Given the description of an element on the screen output the (x, y) to click on. 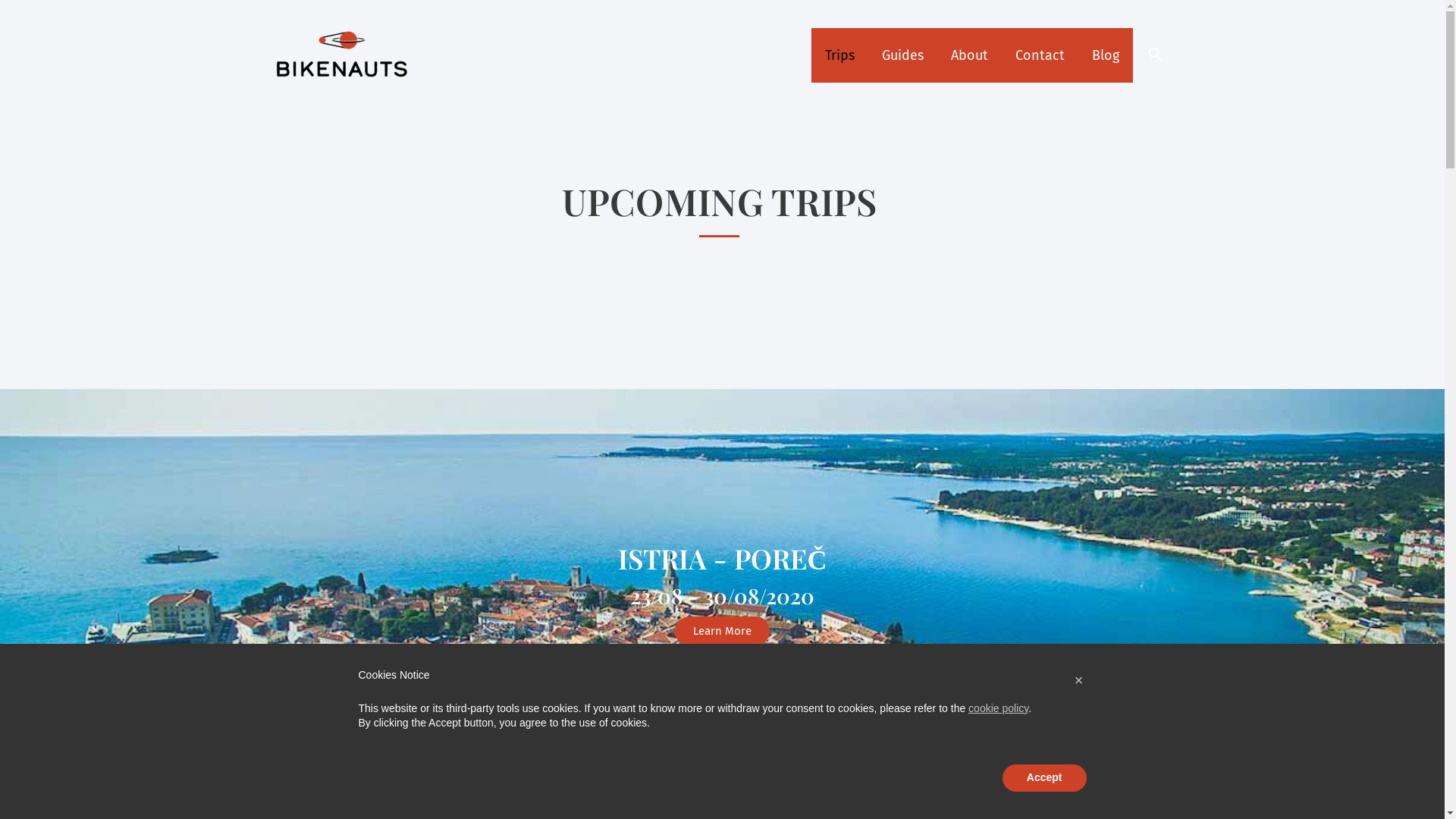
Accept Element type: text (1044, 777)
Guides Element type: text (902, 55)
About Element type: text (969, 55)
Blog Element type: text (1105, 55)
Trips Element type: text (839, 55)
Contact Element type: text (1039, 55)
cookie policy Element type: text (998, 708)
